Given the description of an element on the screen output the (x, y) to click on. 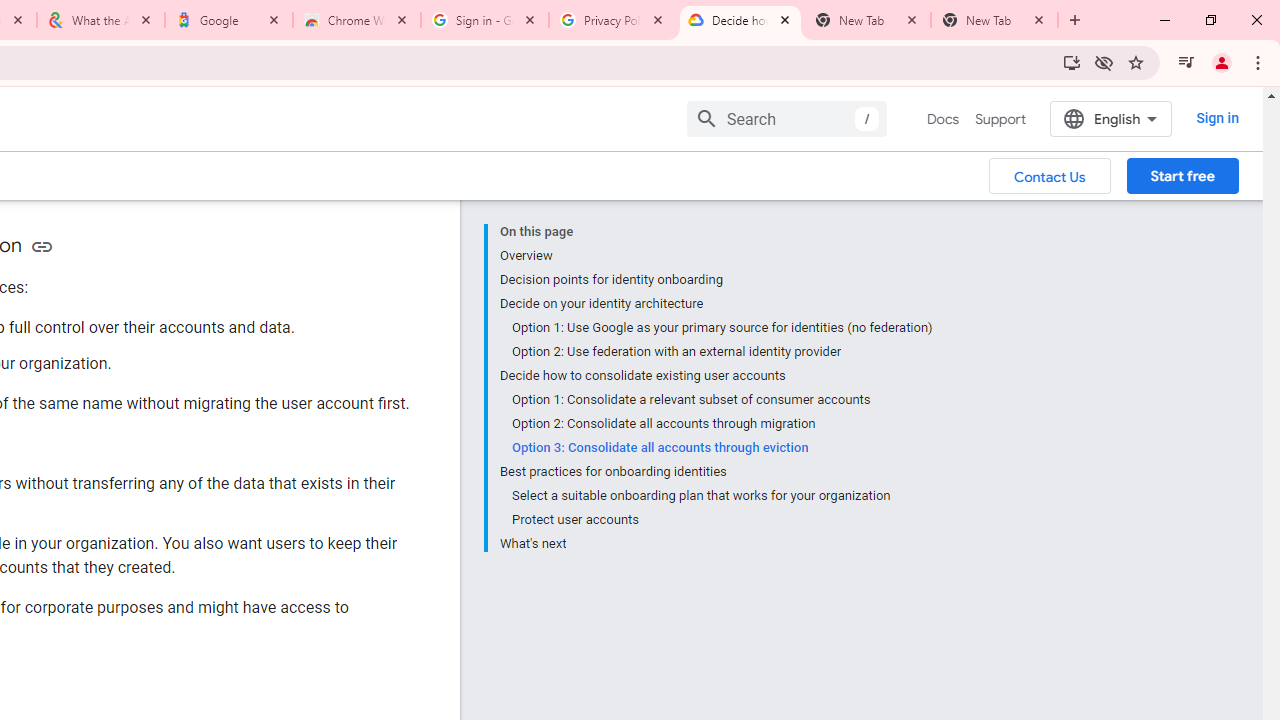
Option 2: Use federation with an external identity provider (721, 351)
Install Google Cloud (1071, 62)
Docs, selected (942, 119)
New Tab (994, 20)
Decision points for identity onboarding (716, 279)
